Given the description of an element on the screen output the (x, y) to click on. 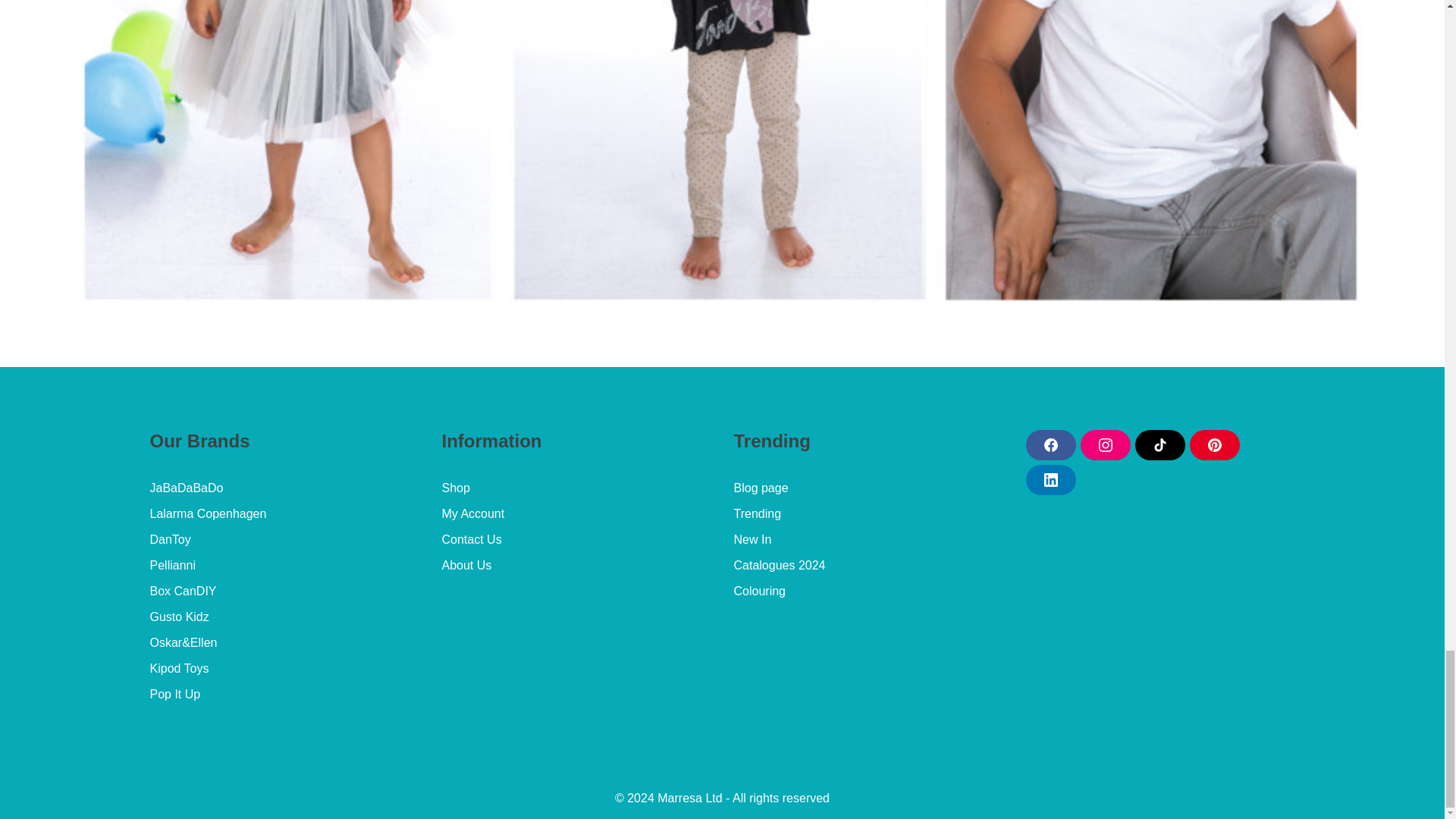
Linkedin (1050, 480)
Facebook (1050, 444)
Instagram (1104, 444)
Pinterest (1214, 444)
TikTok (1159, 444)
